Given the description of an element on the screen output the (x, y) to click on. 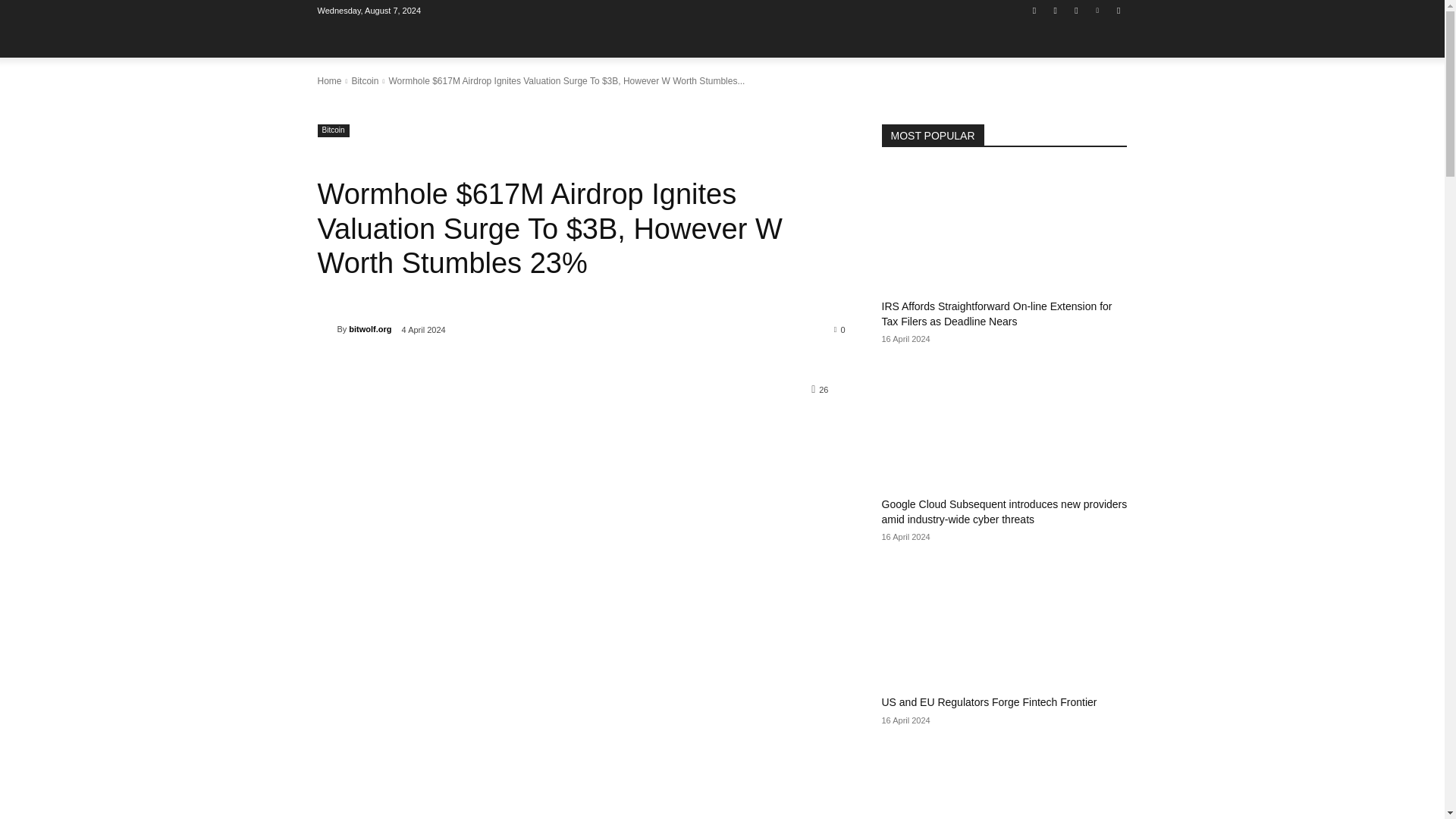
Vimeo (1097, 9)
Youtube (1117, 9)
View all posts in Bitcoin (364, 81)
Twitter (1075, 9)
Home (328, 81)
Bitcoin (333, 130)
Facebook (1034, 9)
bitwolf.org (326, 328)
Bitcoin (364, 81)
Instagram (1055, 9)
